Given the description of an element on the screen output the (x, y) to click on. 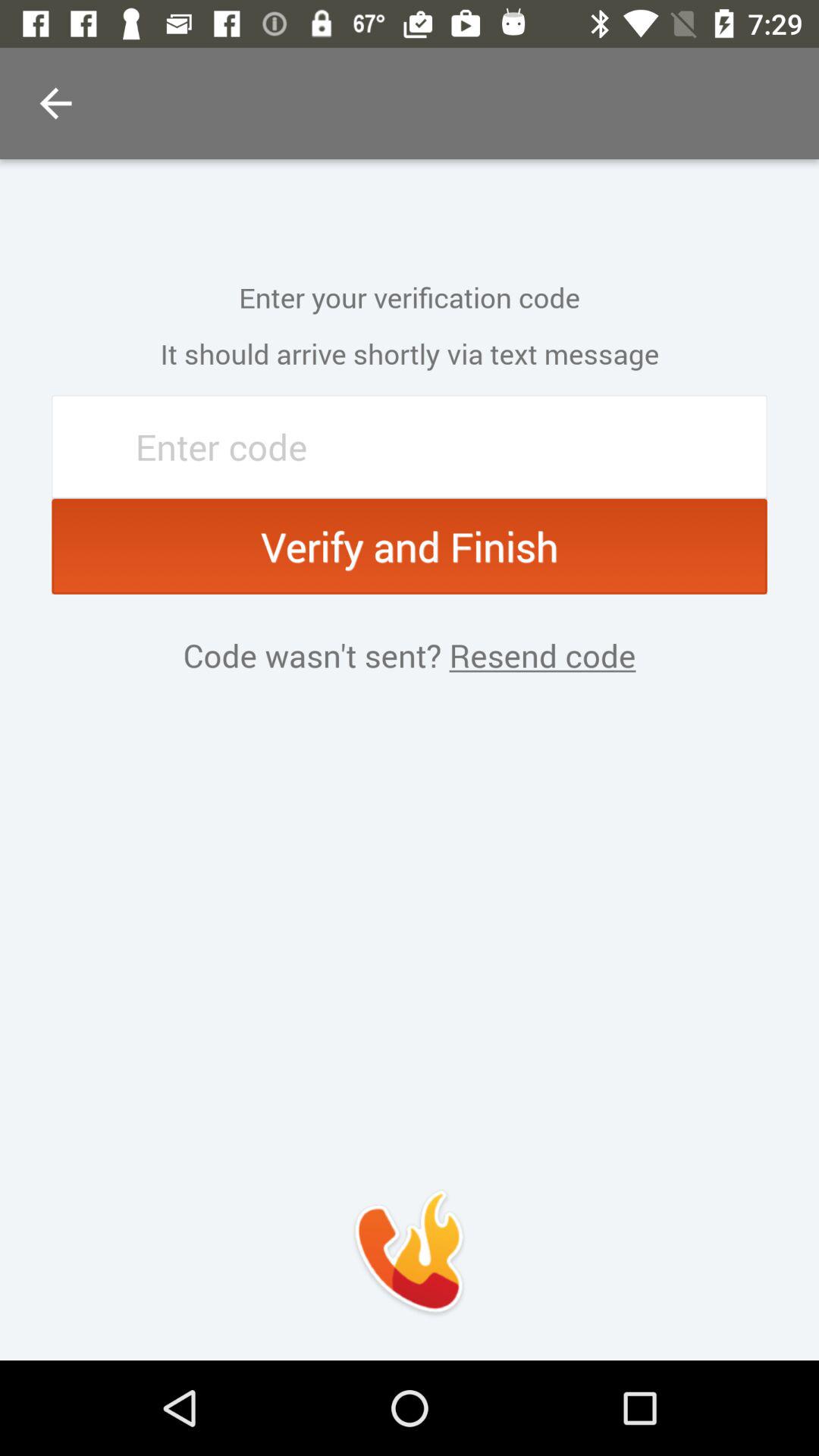
turn off the item to the right of the code wasn t item (538, 655)
